Given the description of an element on the screen output the (x, y) to click on. 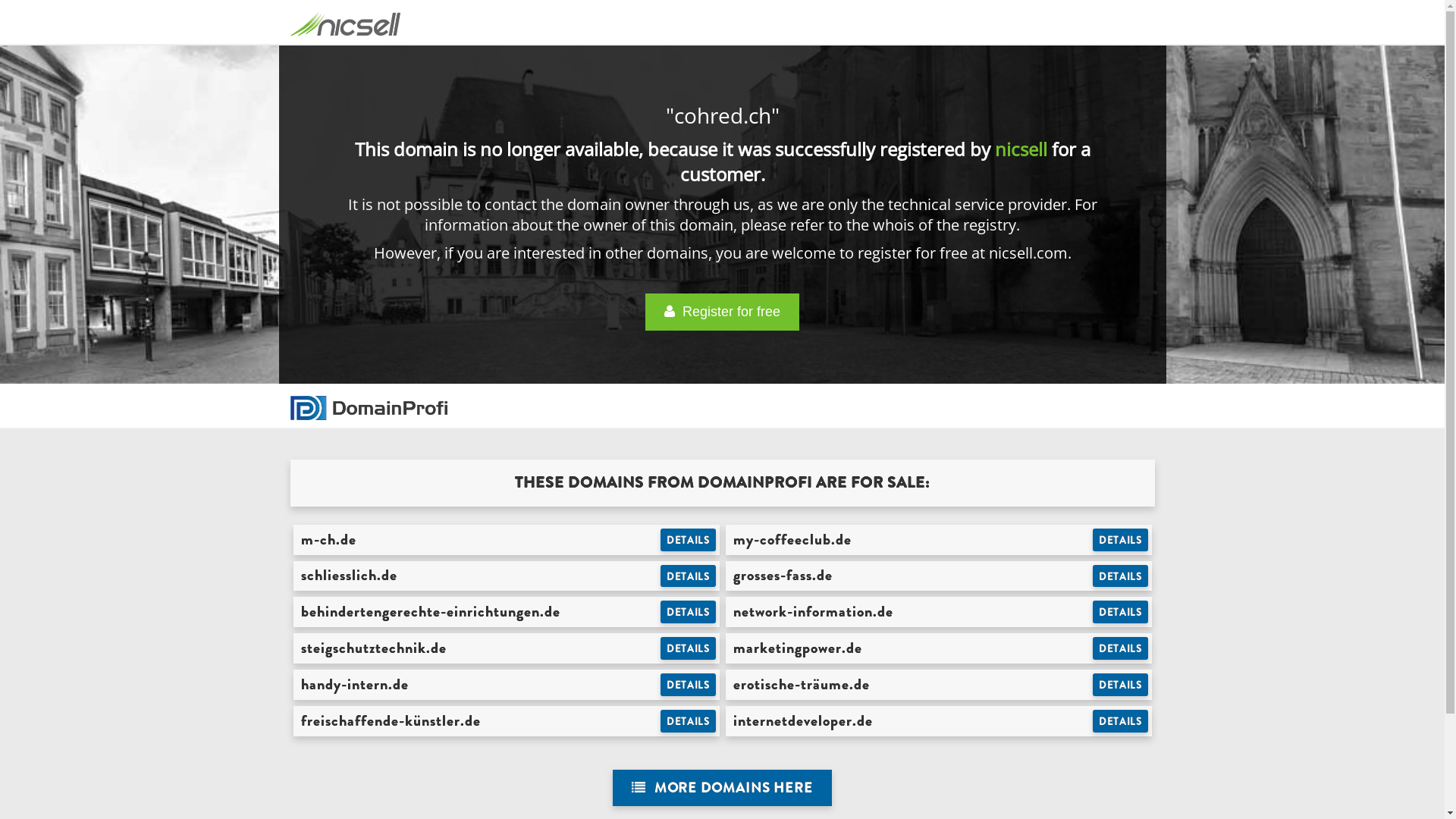
DETAILS Element type: text (687, 720)
  Register for free Element type: text (722, 311)
  MORE DOMAINS HERE Element type: text (721, 787)
DETAILS Element type: text (687, 648)
DETAILS Element type: text (1120, 684)
DETAILS Element type: text (1120, 611)
DETAILS Element type: text (1120, 539)
nicsell Element type: text (1020, 148)
DETAILS Element type: text (1120, 720)
DETAILS Element type: text (687, 611)
DETAILS Element type: text (1120, 575)
DETAILS Element type: text (687, 539)
DETAILS Element type: text (1120, 648)
DETAILS Element type: text (687, 684)
DETAILS Element type: text (687, 575)
